Given the description of an element on the screen output the (x, y) to click on. 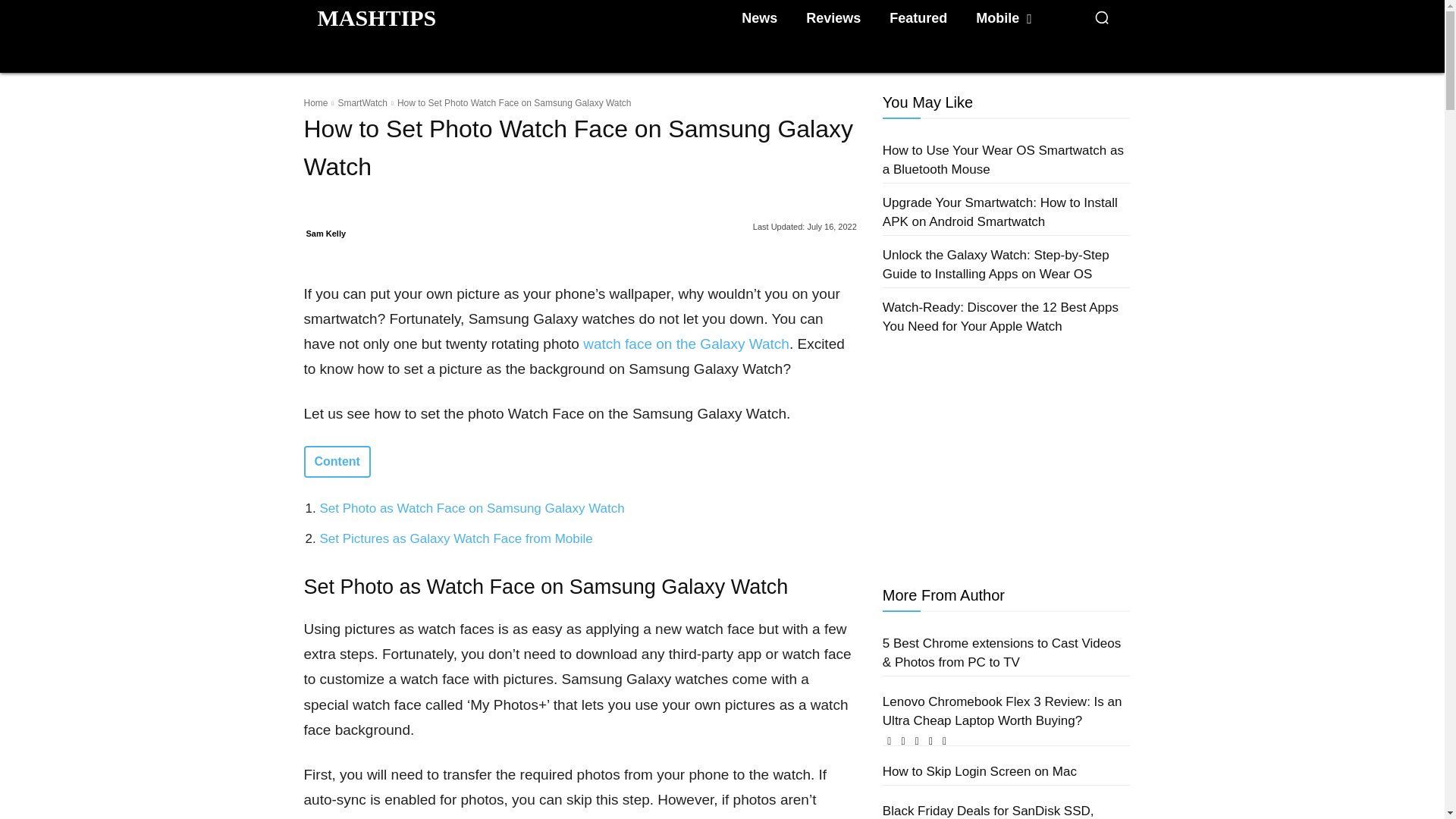
View all posts in SmartWatch (362, 102)
watch face on the Galaxy Watch (686, 343)
Set Pictures as Galaxy Watch Face from Mobile (456, 538)
News (758, 18)
Set Photo as Watch Face on Samsung Galaxy Watch (472, 508)
SmartWatch (362, 102)
MASHTIPS (376, 17)
Sam Kelly (325, 232)
Reviews (832, 18)
MASHTIPS (376, 17)
Mobile (1003, 18)
Home (314, 102)
Featured (918, 18)
